Given the description of an element on the screen output the (x, y) to click on. 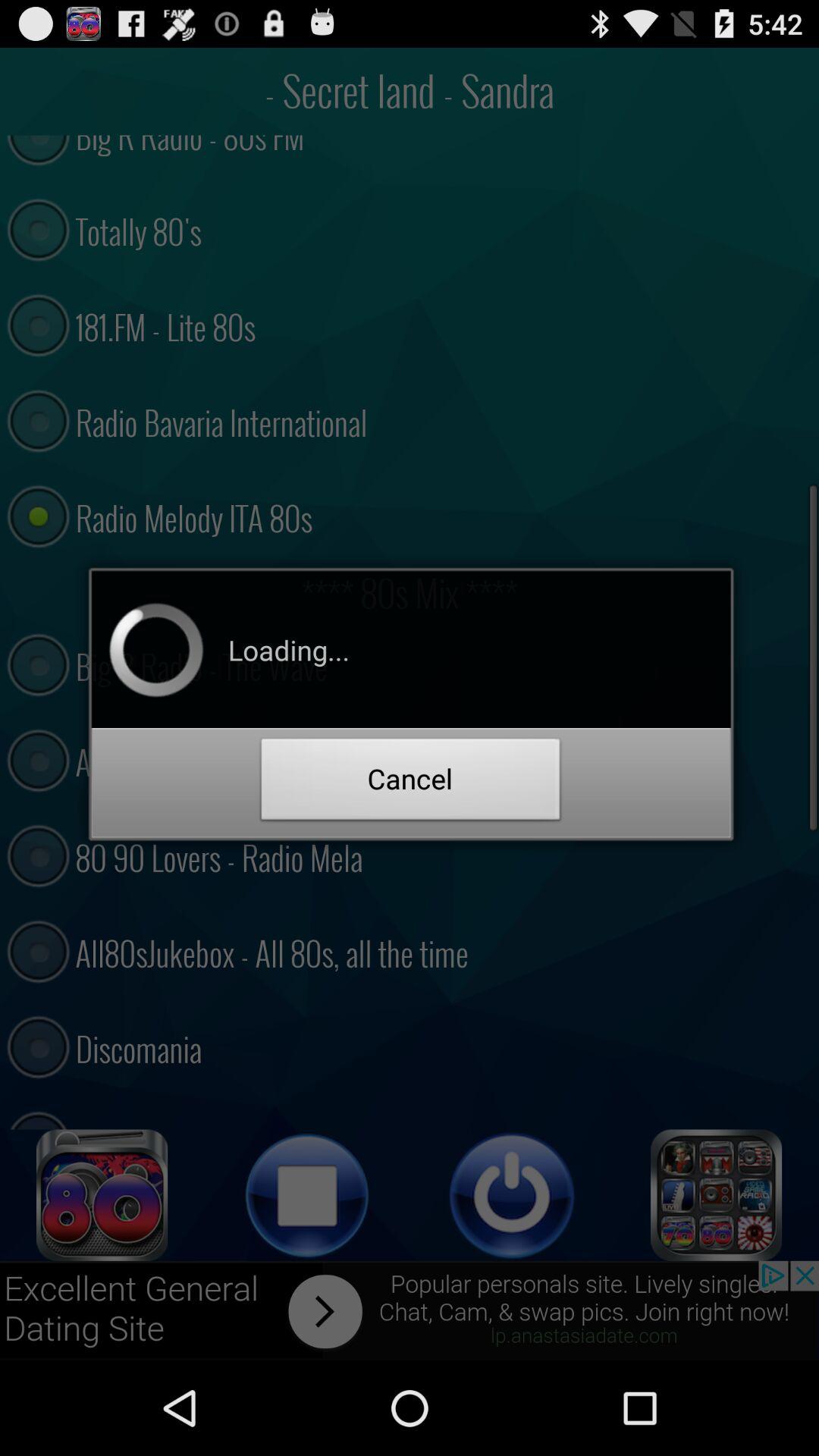
toggle power (511, 1194)
